Given the description of an element on the screen output the (x, y) to click on. 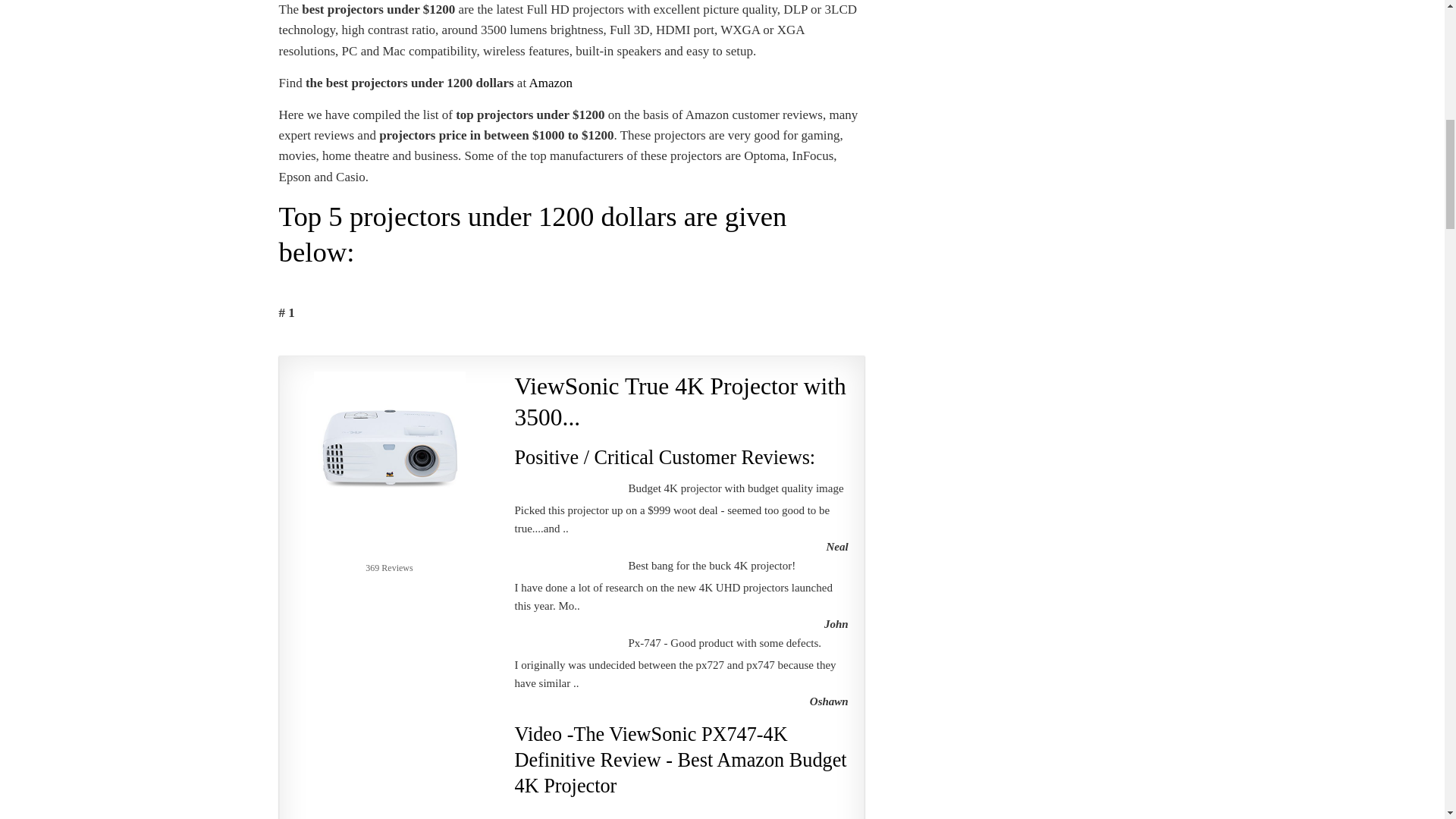
Amazon (550, 83)
